Given the description of an element on the screen output the (x, y) to click on. 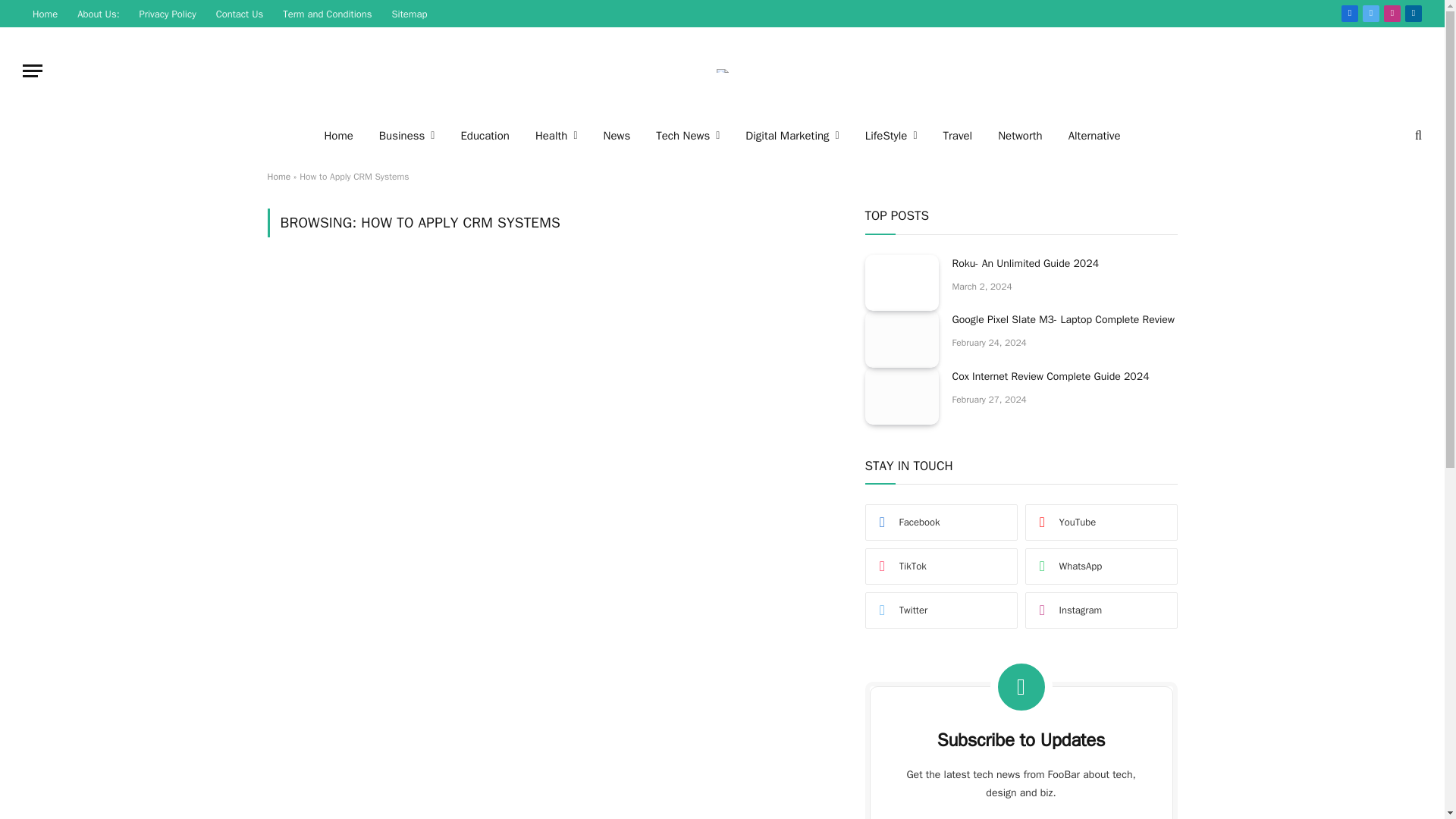
Sitemap (409, 13)
Business (407, 135)
Tech News (687, 135)
News (617, 135)
Health (556, 135)
Education (483, 135)
Term and Conditions (327, 13)
Instagram (1392, 13)
Home (44, 13)
Home (338, 135)
Facebook (1349, 13)
Digital Marketing (791, 135)
Privacy Policy (167, 13)
LinkedIn (1413, 13)
About Us: (97, 13)
